Given the description of an element on the screen output the (x, y) to click on. 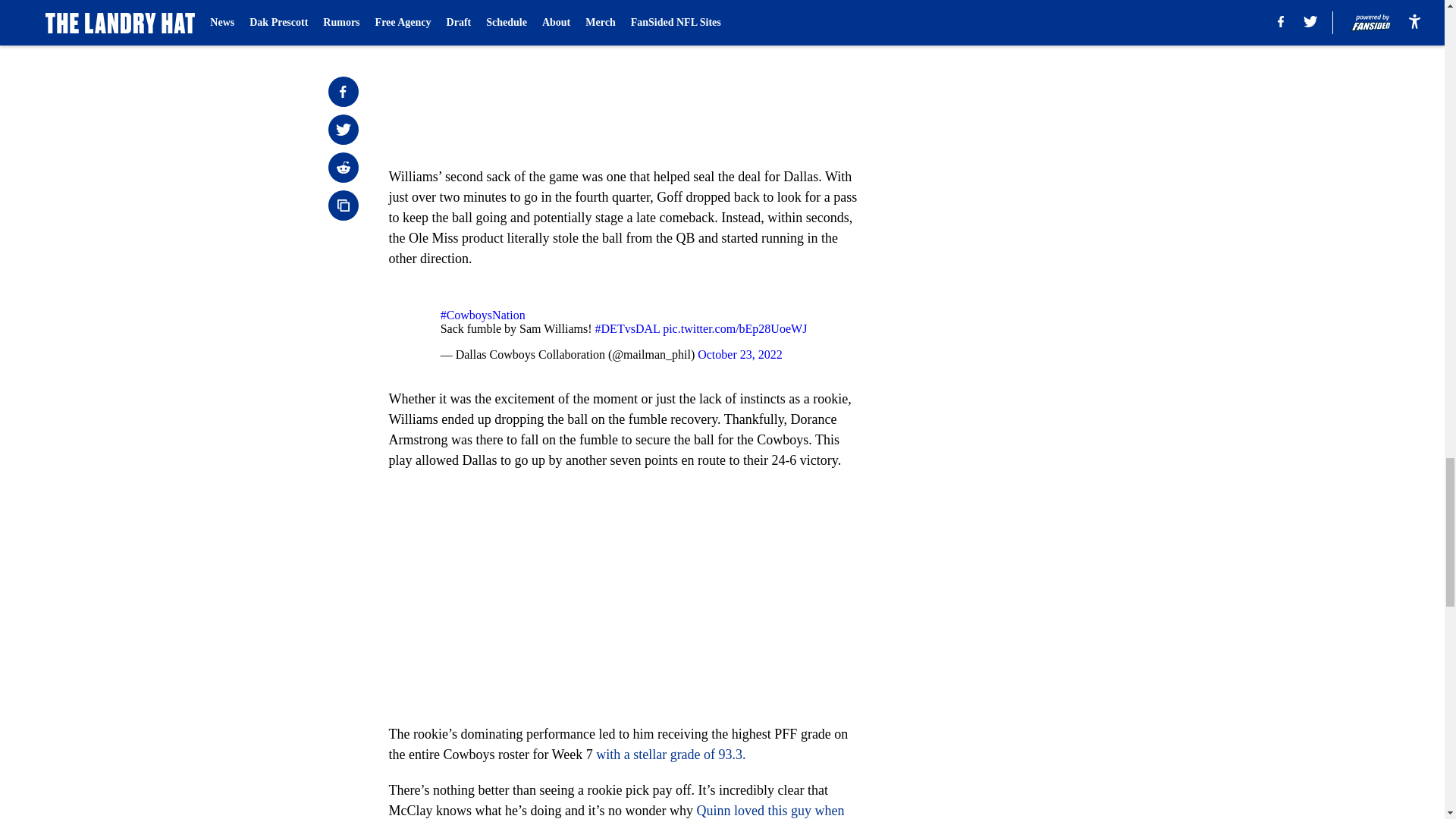
Quinn loved this guy when he attended Ole Miss Pro Day. (616, 811)
October 23, 2022 (740, 354)
with a stellar grade of 93.3. (670, 754)
